Given the description of an element on the screen output the (x, y) to click on. 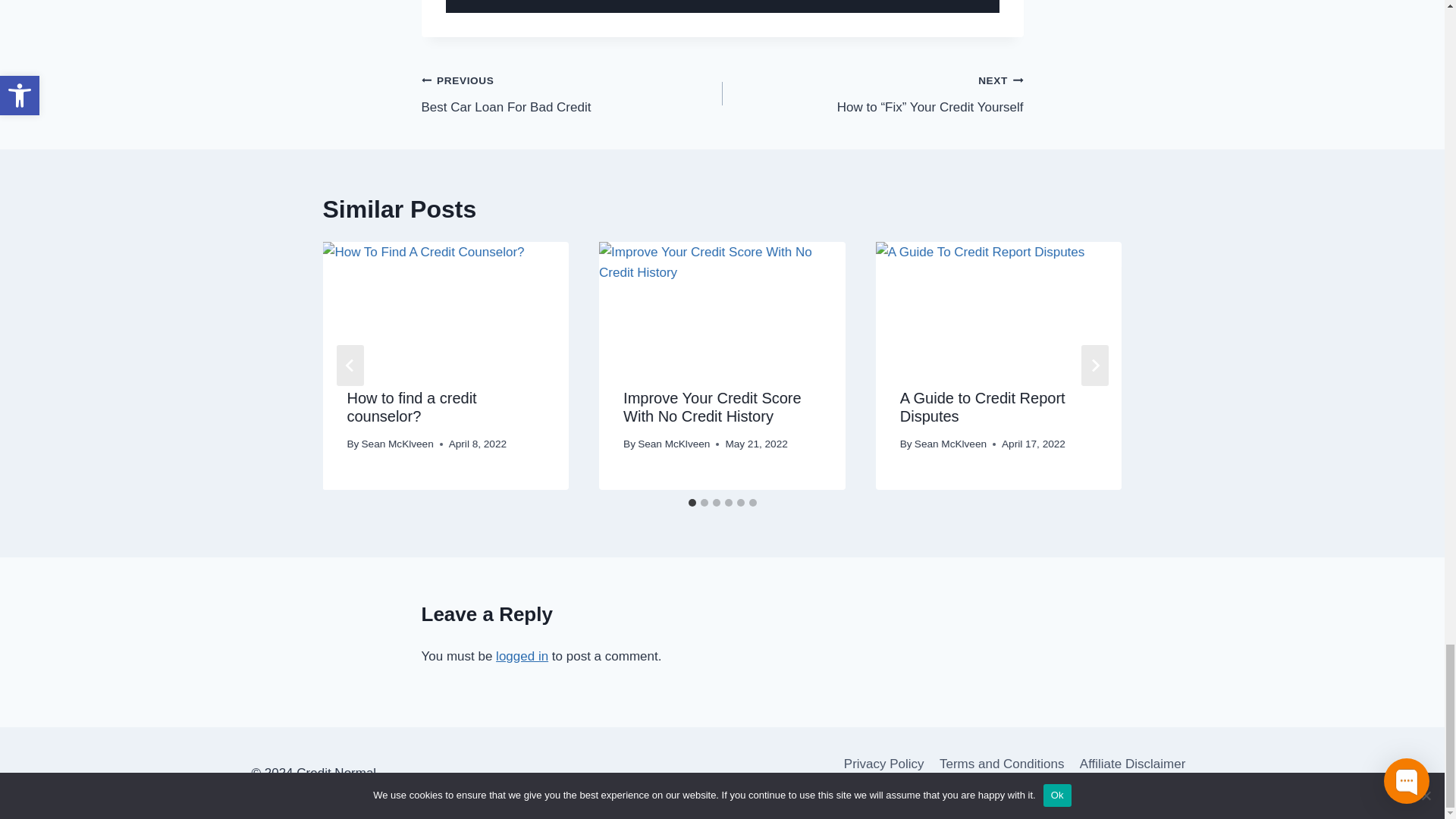
Improve Your Credit Score With No Credit History 7 (721, 302)
How To Find A Credit Counselor? 6 (445, 302)
A Guide To Credit Report Disputes 8 (572, 93)
